Given the description of an element on the screen output the (x, y) to click on. 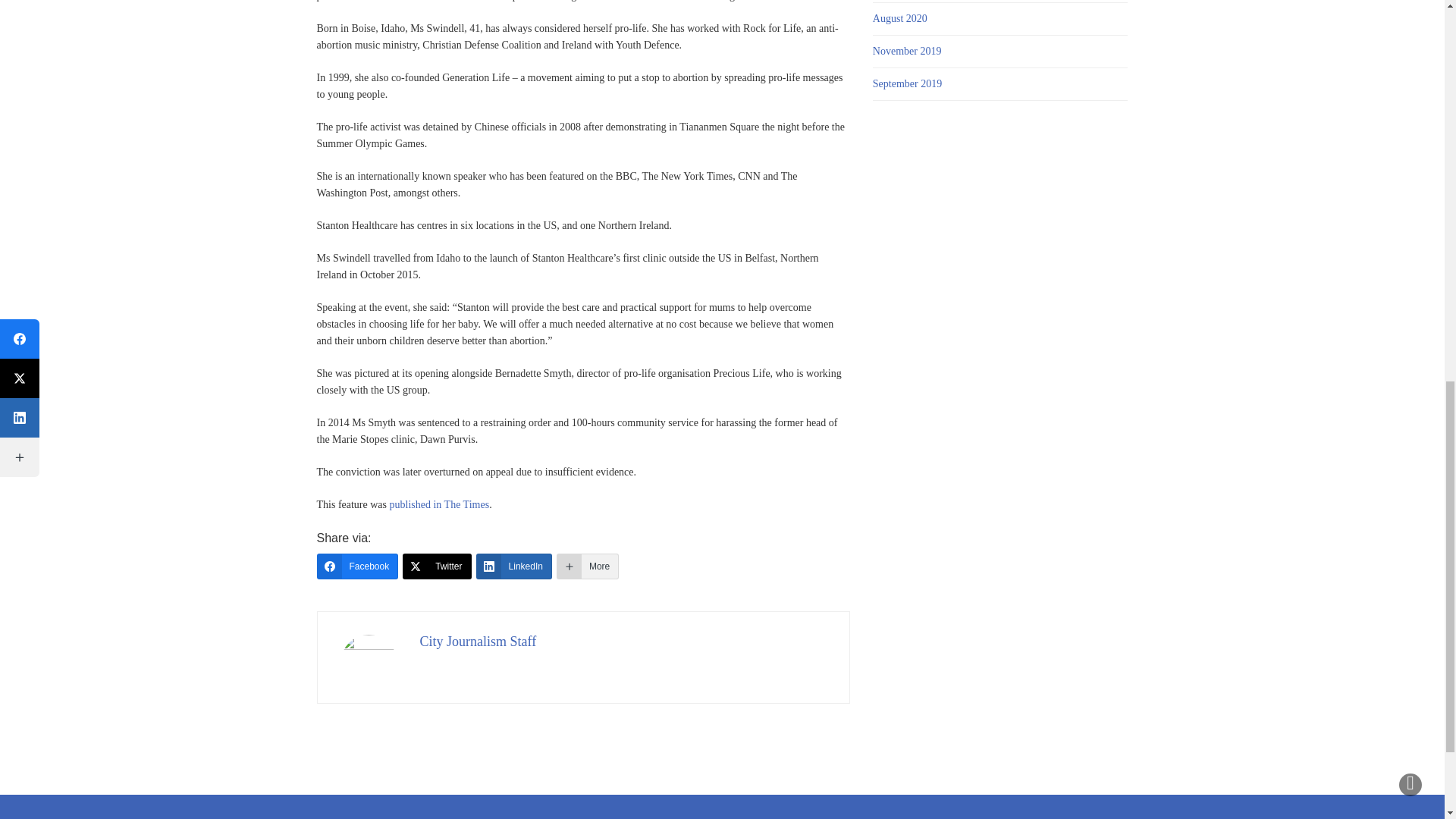
City Journalism Staff (478, 641)
LinkedIn (513, 566)
Facebook (357, 566)
More (587, 566)
published in The Times (439, 504)
Twitter (436, 566)
